Given the description of an element on the screen output the (x, y) to click on. 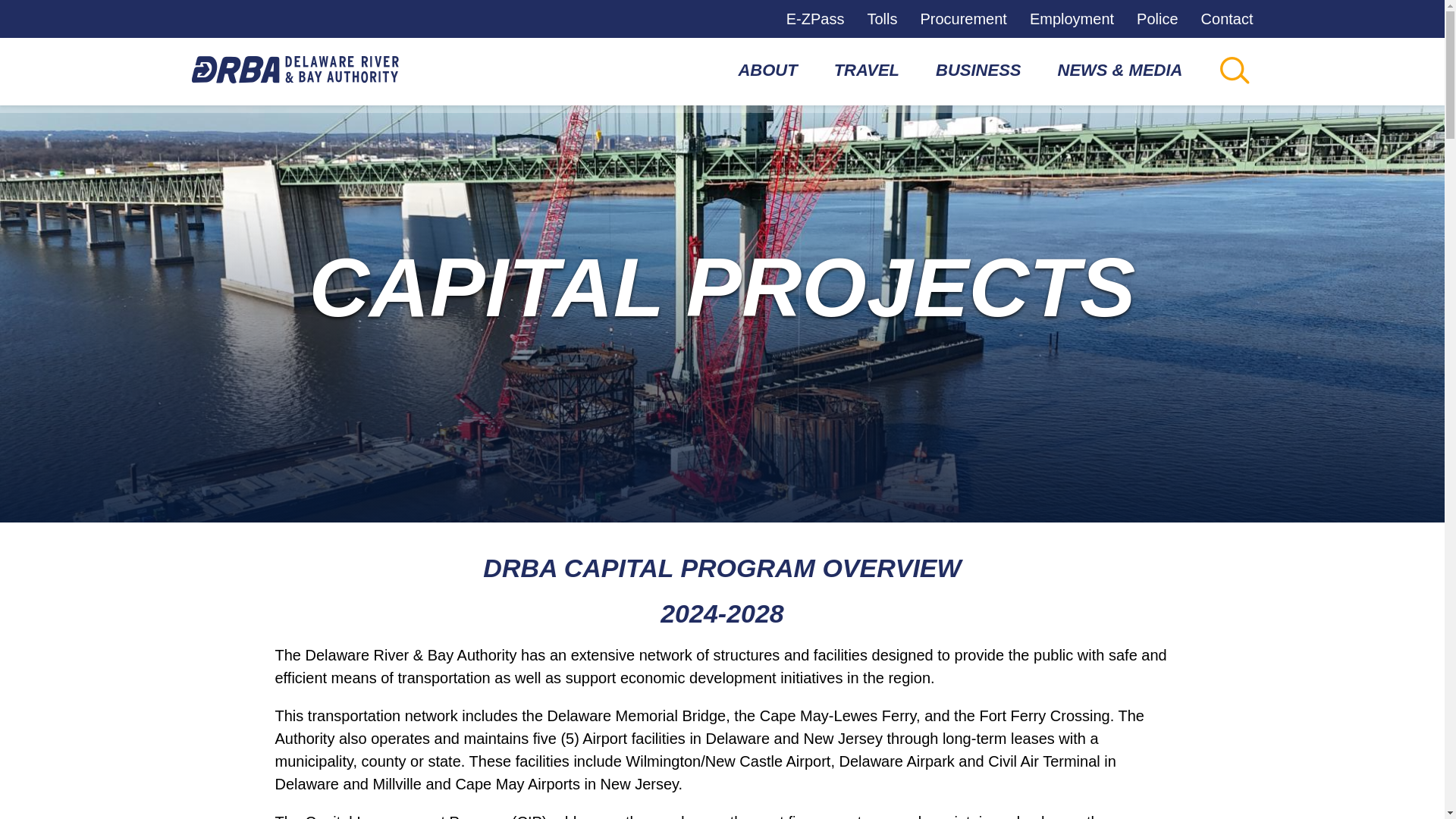
E-ZPass (815, 18)
Tolls (881, 18)
ABOUT (767, 69)
Procurement (963, 18)
TRAVEL (866, 69)
Contact (1227, 18)
Employment (1071, 18)
Police (1157, 18)
BUSINESS (978, 69)
